Given the description of an element on the screen output the (x, y) to click on. 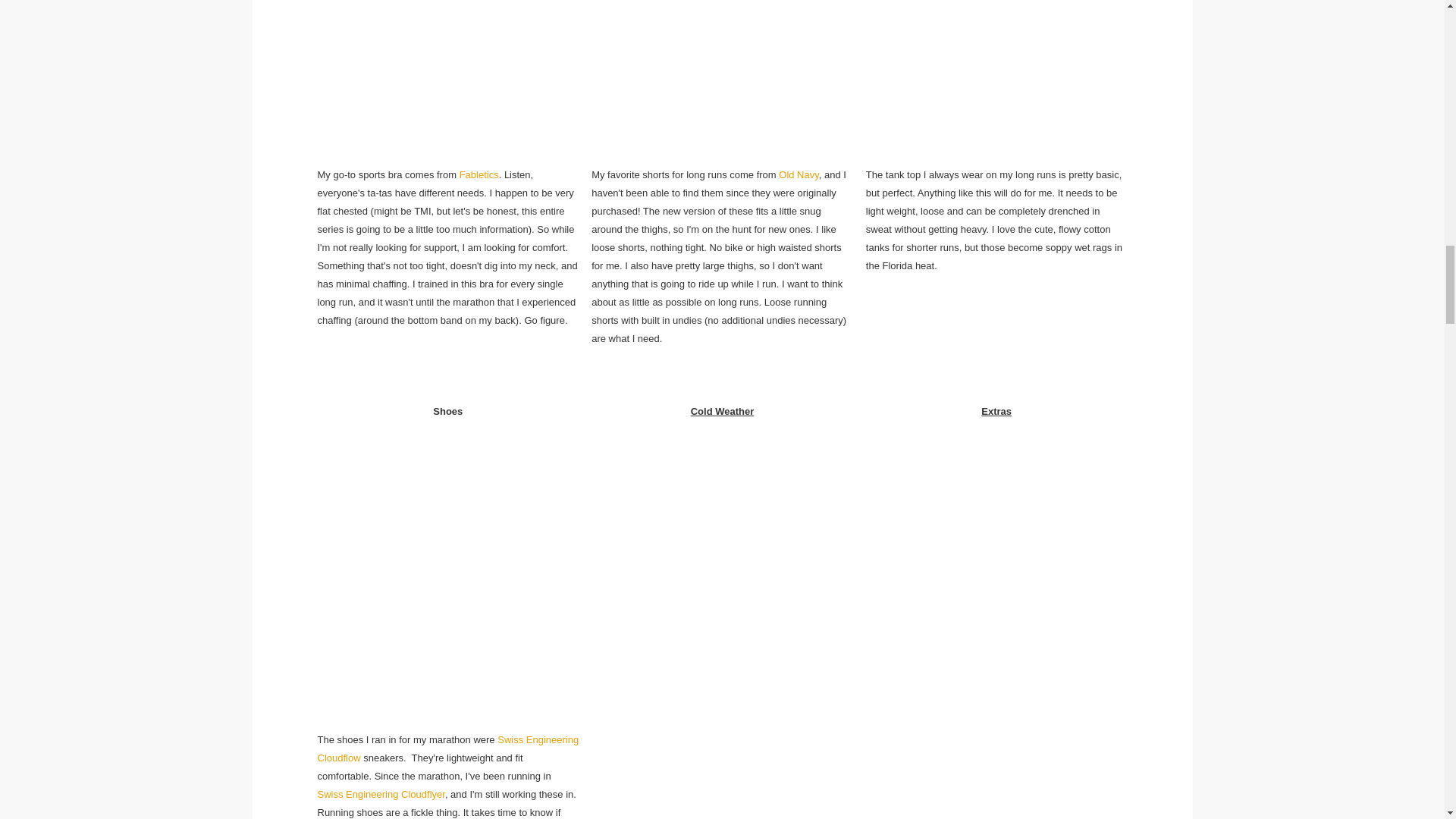
Swiss Engineering Cloudflyer (380, 794)
Old Navy (798, 174)
Fabletics (479, 174)
Swiss Engineering Cloudflow (447, 748)
